Given the description of an element on the screen output the (x, y) to click on. 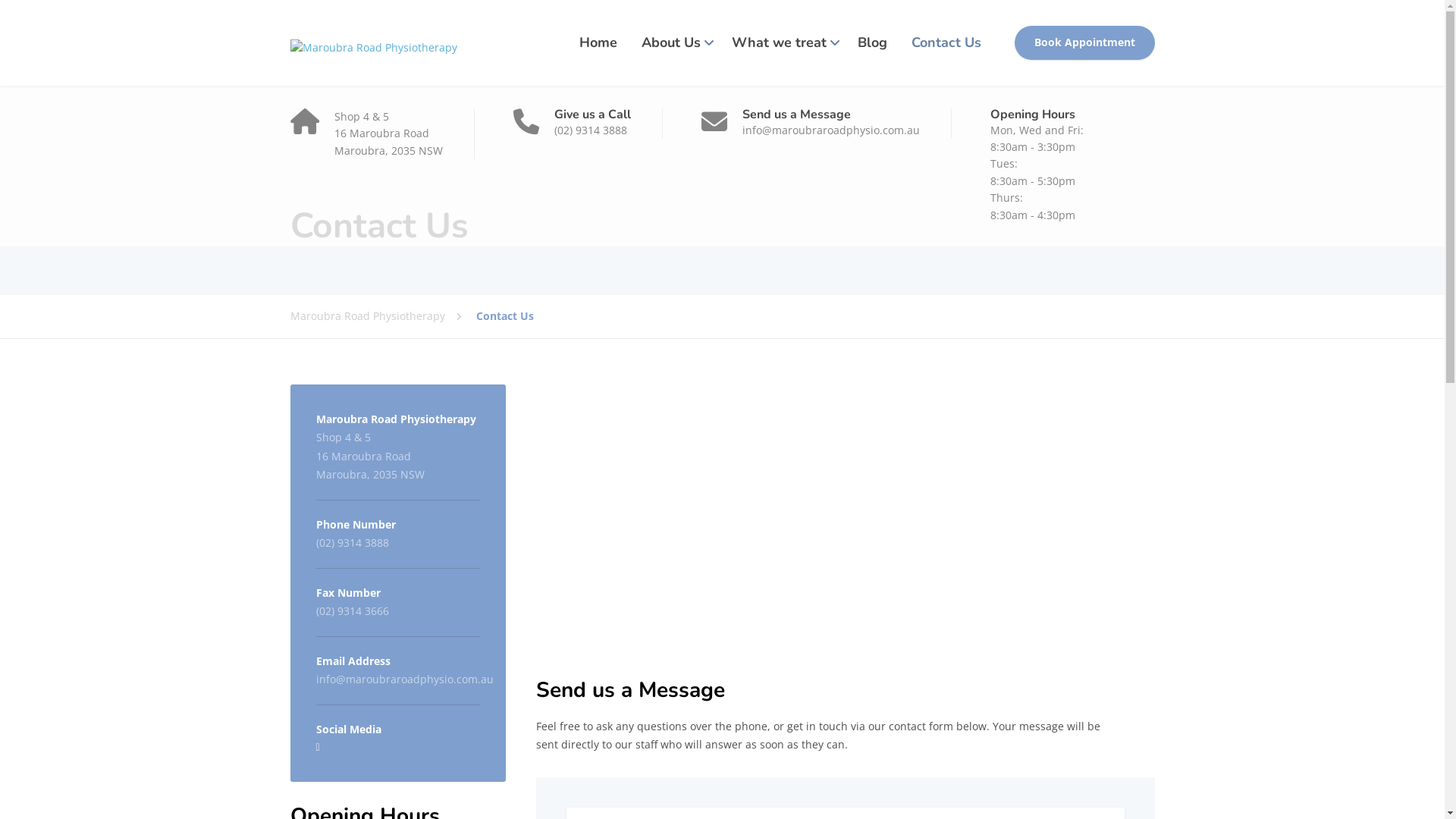
Contact Us Element type: text (945, 42)
Blog Element type: text (871, 42)
Home Element type: text (597, 42)
About Us Element type: text (674, 42)
What we treat Element type: text (781, 42)
Book Appointment Element type: text (1084, 42)
Maroubra Road Physiotherapy Element type: hover (372, 42)
Maroubra Road Physiotherapy Element type: text (382, 315)
